Given the description of an element on the screen output the (x, y) to click on. 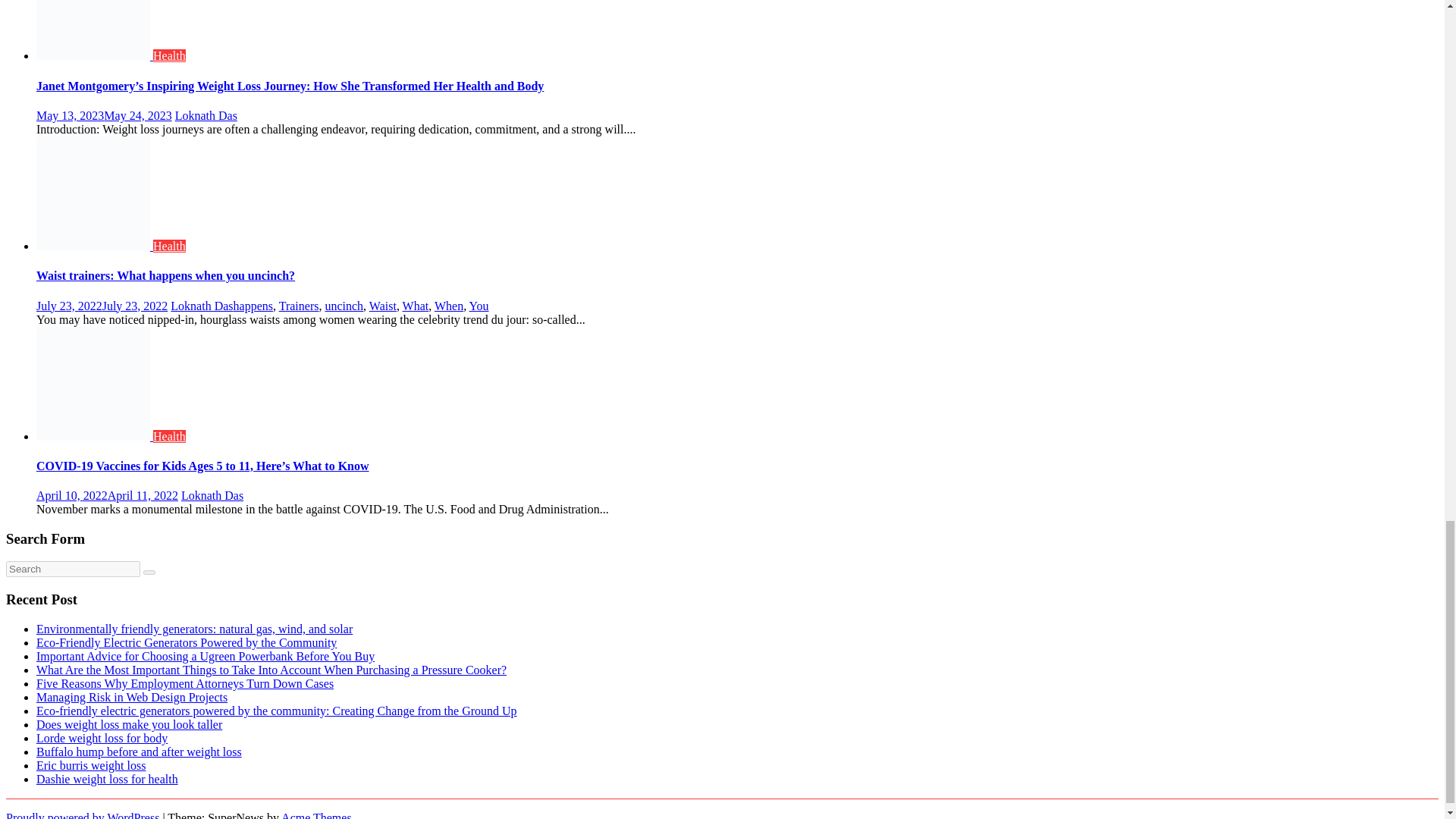
May 13, 2023May 24, 2023 (103, 115)
Health (169, 55)
